Given the description of an element on the screen output the (x, y) to click on. 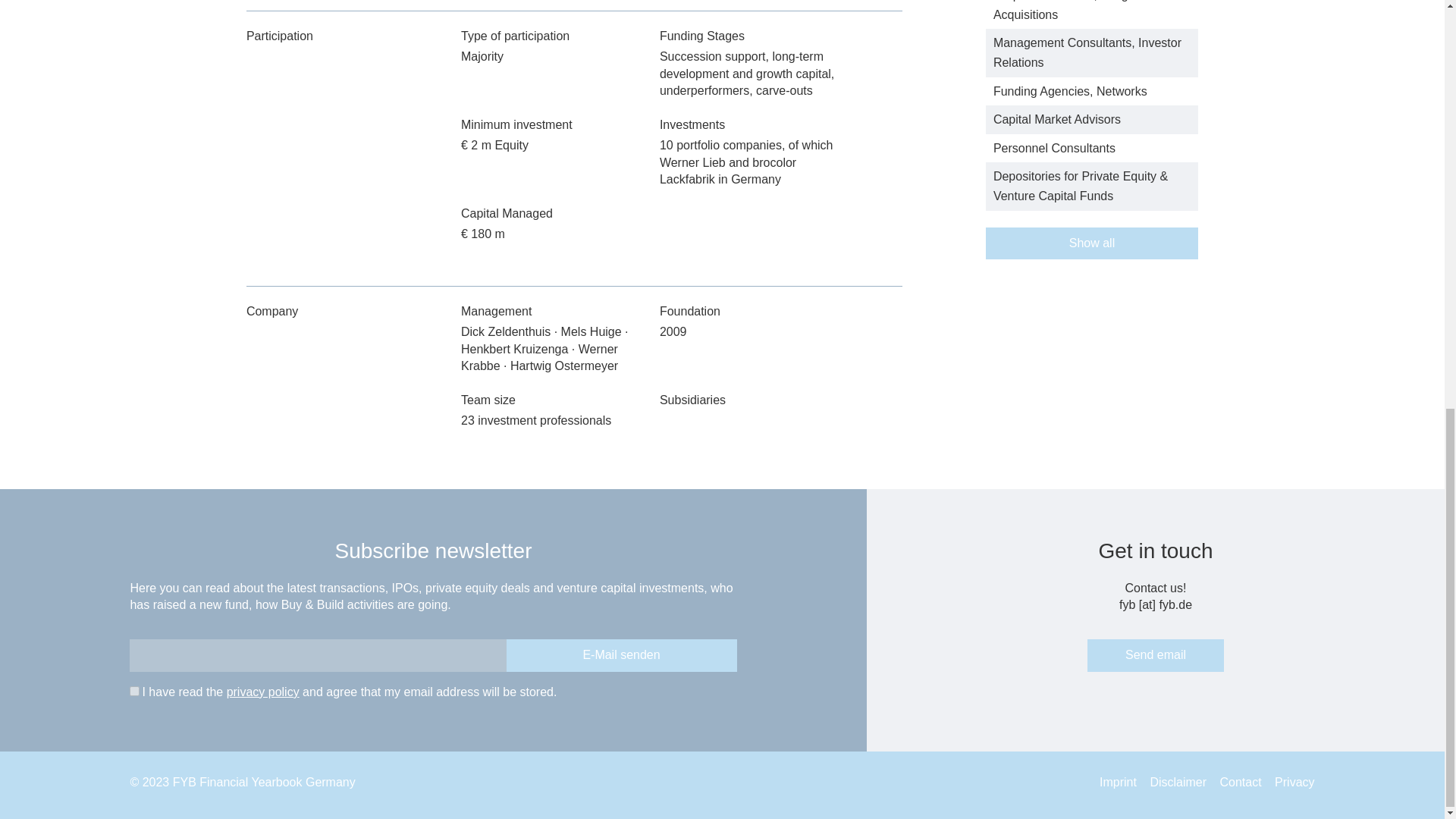
1 (134, 691)
Capital Market Advisors (1056, 119)
Funding Agencies, Networks (1069, 91)
Management Consultants, Investor Relations (1086, 52)
E-Mail senden (621, 654)
